Given the description of an element on the screen output the (x, y) to click on. 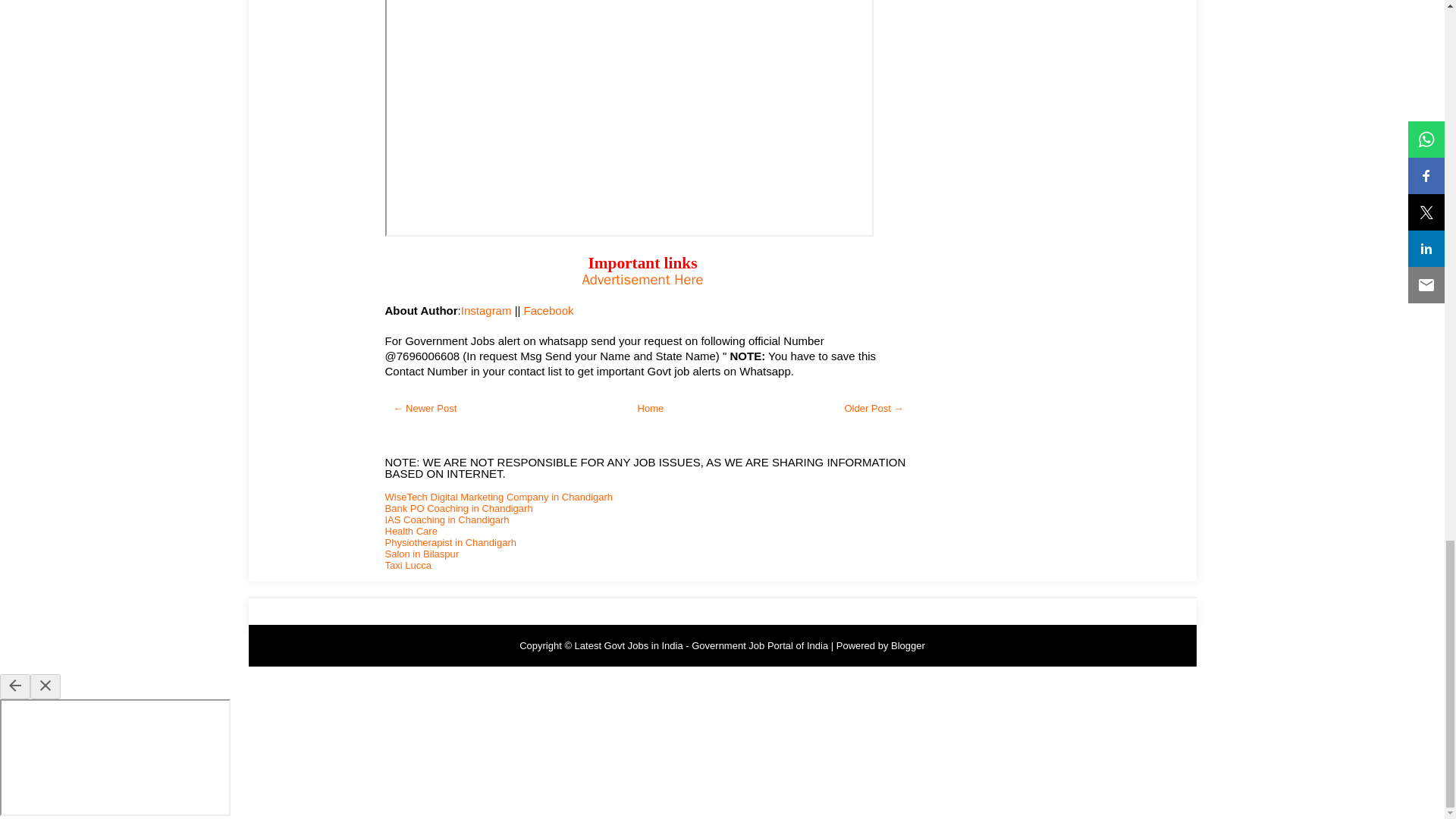
Newer Post (425, 408)
Older Post (873, 408)
